Given the description of an element on the screen output the (x, y) to click on. 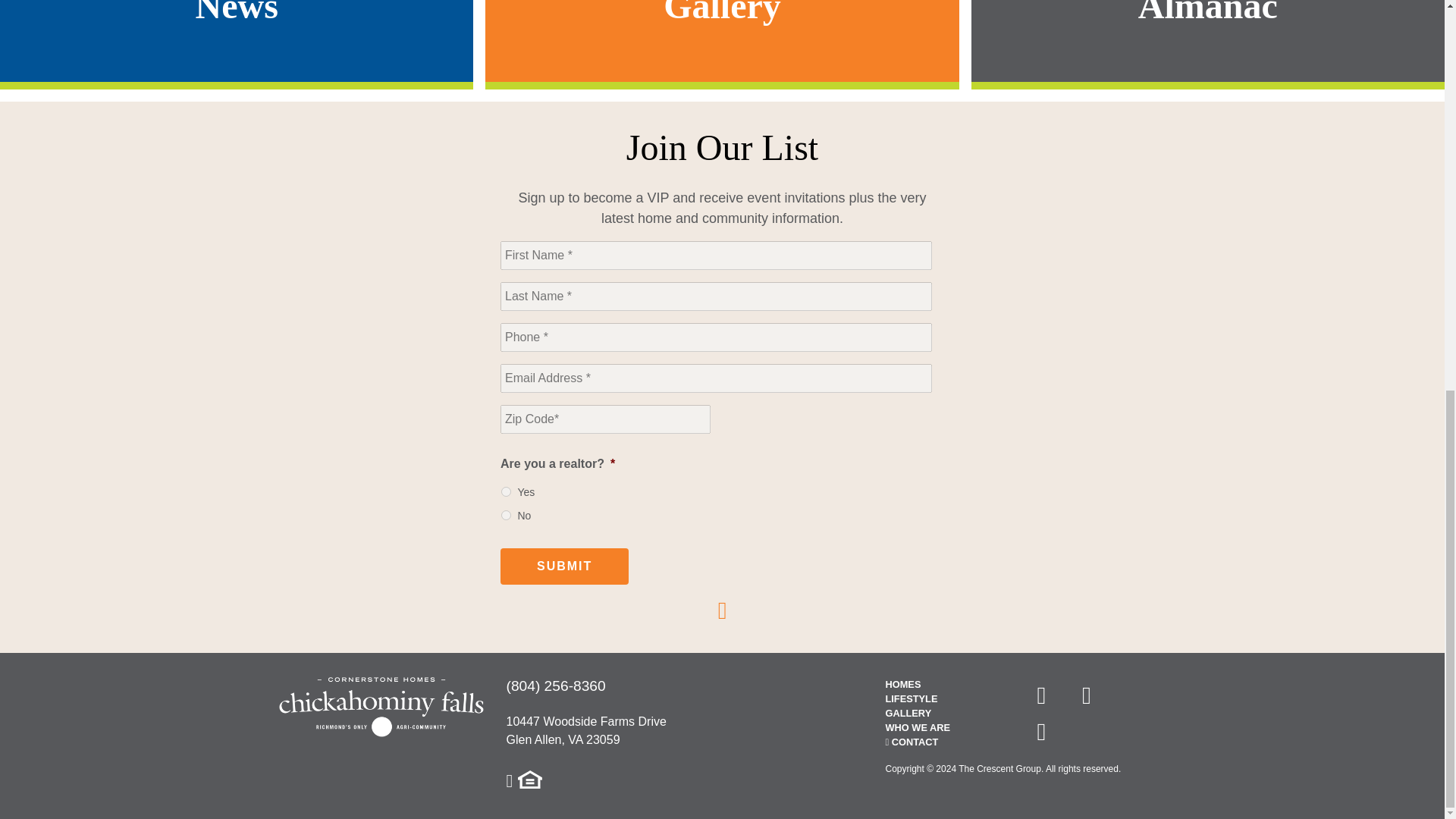
Yes (505, 491)
No (505, 515)
Equal Housing Opportunity (529, 779)
Submit (564, 565)
